Given the description of an element on the screen output the (x, y) to click on. 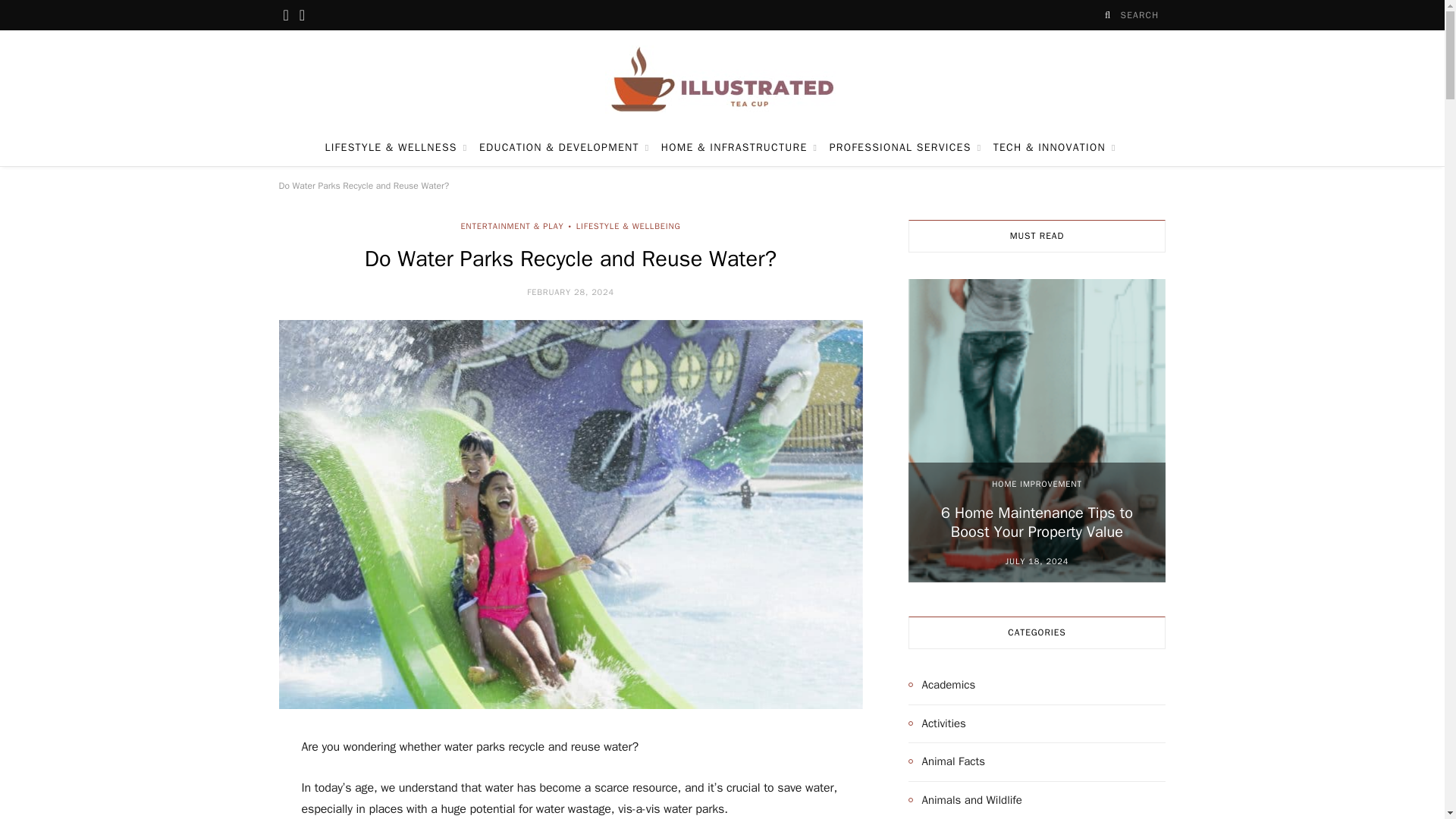
illustrated Tea Cup (722, 79)
Instagram (301, 15)
Facebook (286, 15)
